Given the description of an element on the screen output the (x, y) to click on. 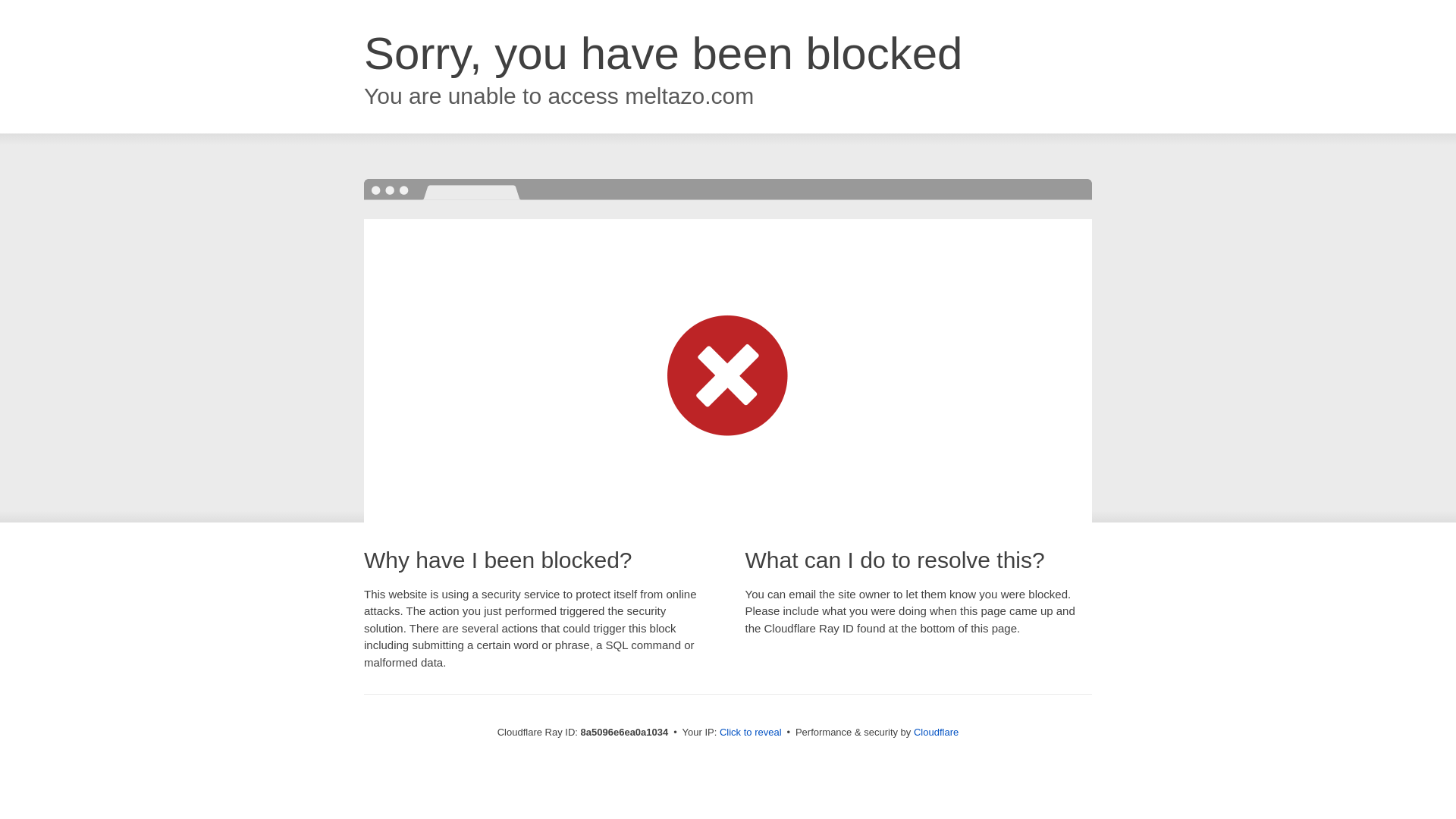
Click to reveal (750, 732)
Cloudflare (936, 731)
